Given the description of an element on the screen output the (x, y) to click on. 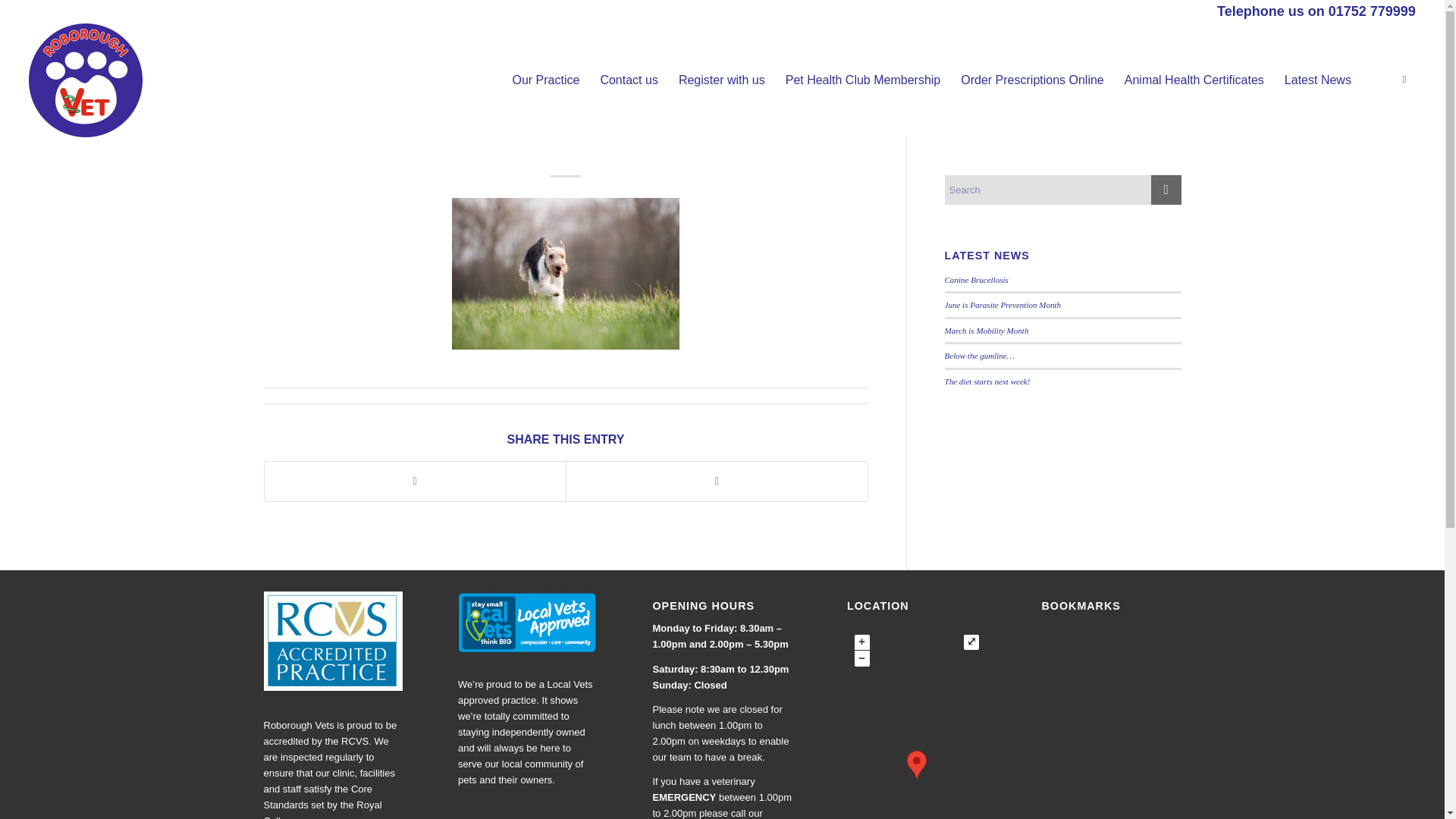
The diet starts next week! (987, 380)
Zoom in (861, 642)
March is Mobility Month (986, 329)
Zoom out (861, 657)
Facebook (1404, 78)
June is Parasite Prevention Month (1002, 304)
Register with us (721, 80)
Click to start search (1165, 189)
Order Prescriptions Online (1031, 80)
Toggle full-screen (970, 642)
Animal Health Certificates (1193, 80)
Pet Health Club Membership (862, 80)
Canine Brucellosis (976, 279)
